Given the description of an element on the screen output the (x, y) to click on. 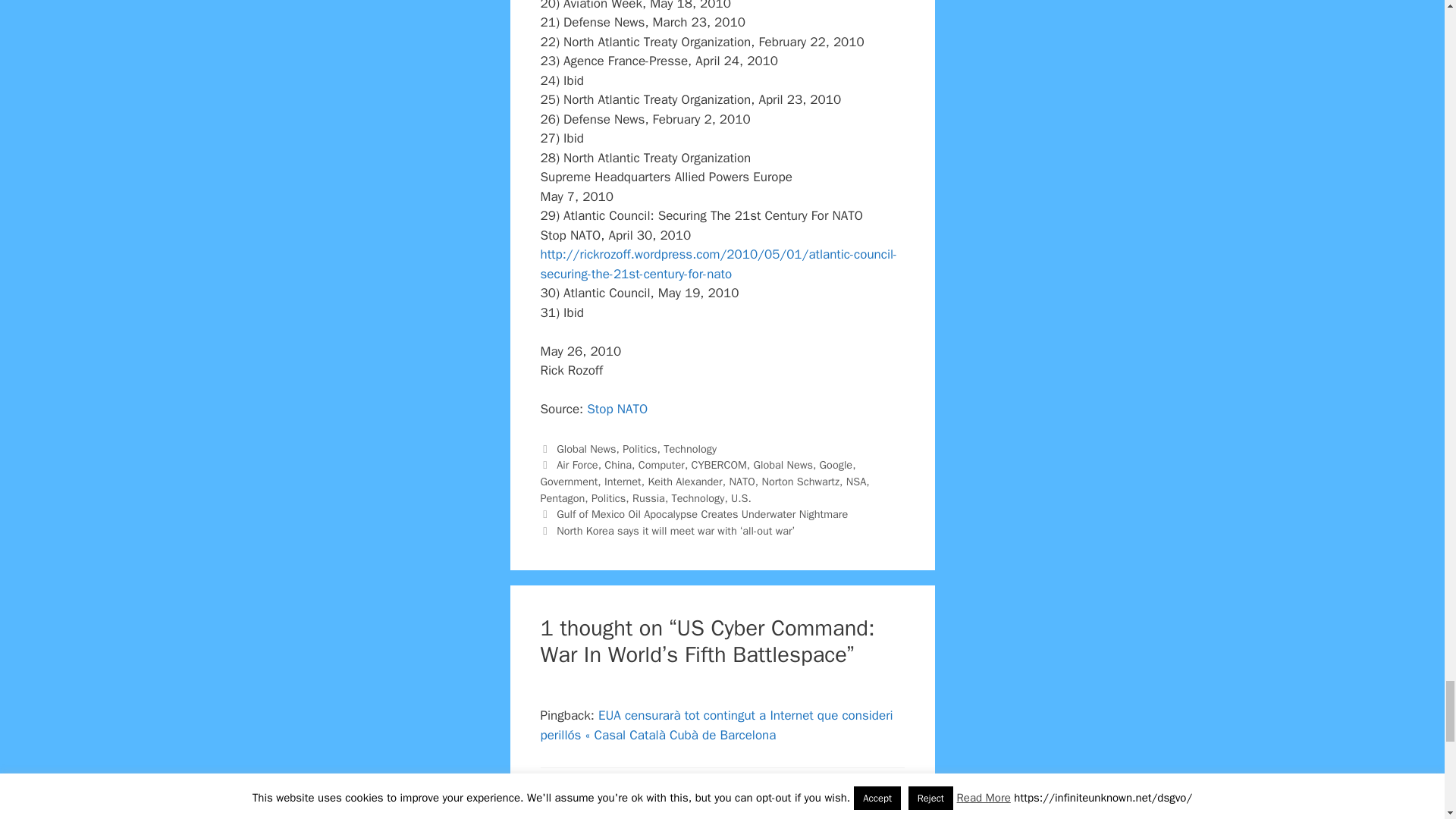
Politics (608, 498)
Gulf of Mexico Oil Apocalypse Creates Underwater Nightmare (701, 513)
Technology (689, 448)
Norton Schwartz (800, 481)
China (617, 464)
Pentagon (562, 498)
Technology (698, 498)
Computer (661, 464)
Google (836, 464)
CYBERCOM (718, 464)
Internet (623, 481)
Politics (639, 448)
Air Force (577, 464)
Keith Alexander (684, 481)
Russia (648, 498)
